Given the description of an element on the screen output the (x, y) to click on. 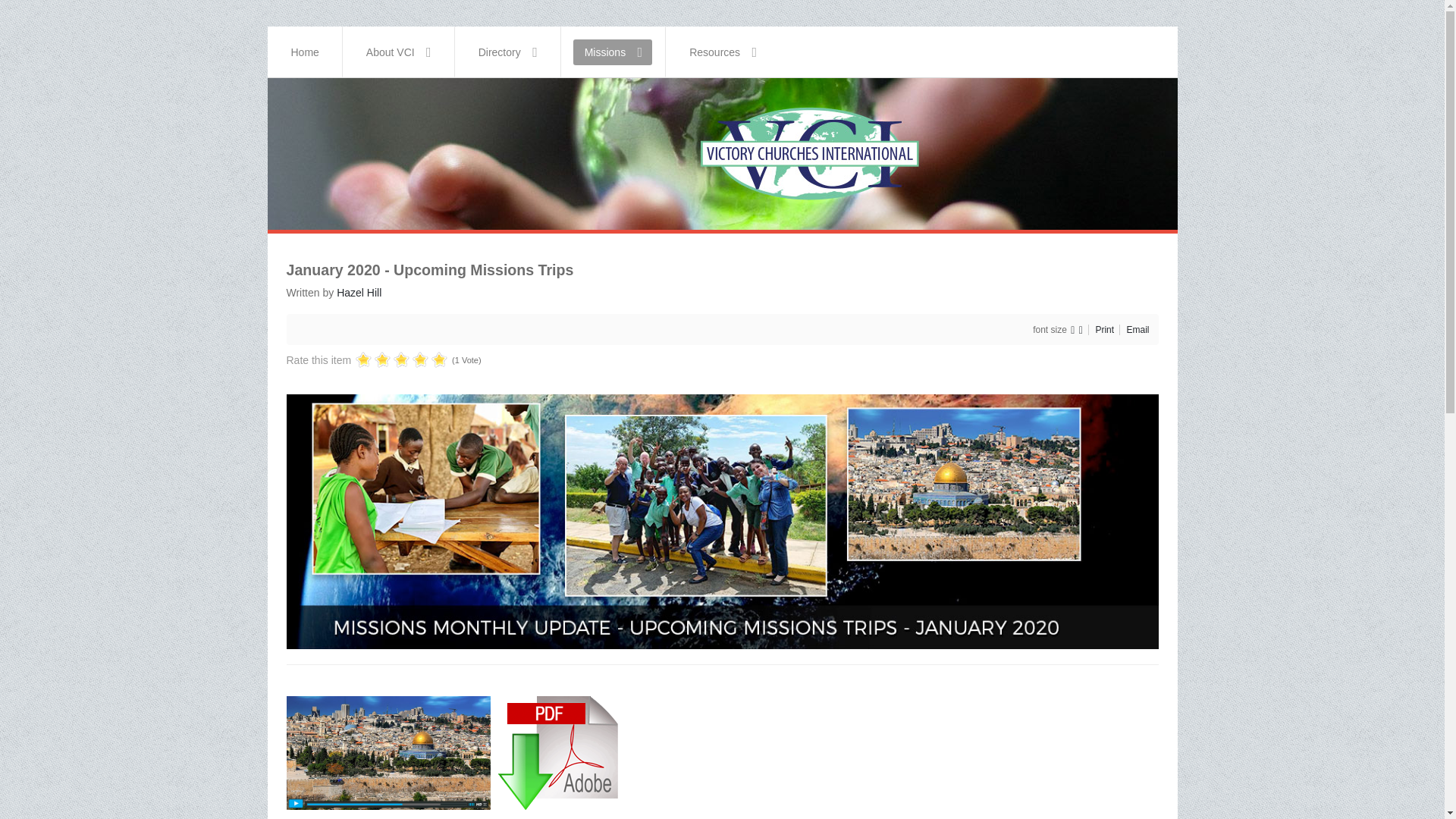
4 stars out of 5 (391, 360)
3 stars out of 5 (381, 360)
Home (304, 51)
1 star out of 5 (362, 360)
Directory (507, 51)
Resources (722, 51)
About VCI (398, 51)
Missions (613, 51)
5 stars out of 5 (400, 360)
2 stars out of 5 (372, 360)
